Given the description of an element on the screen output the (x, y) to click on. 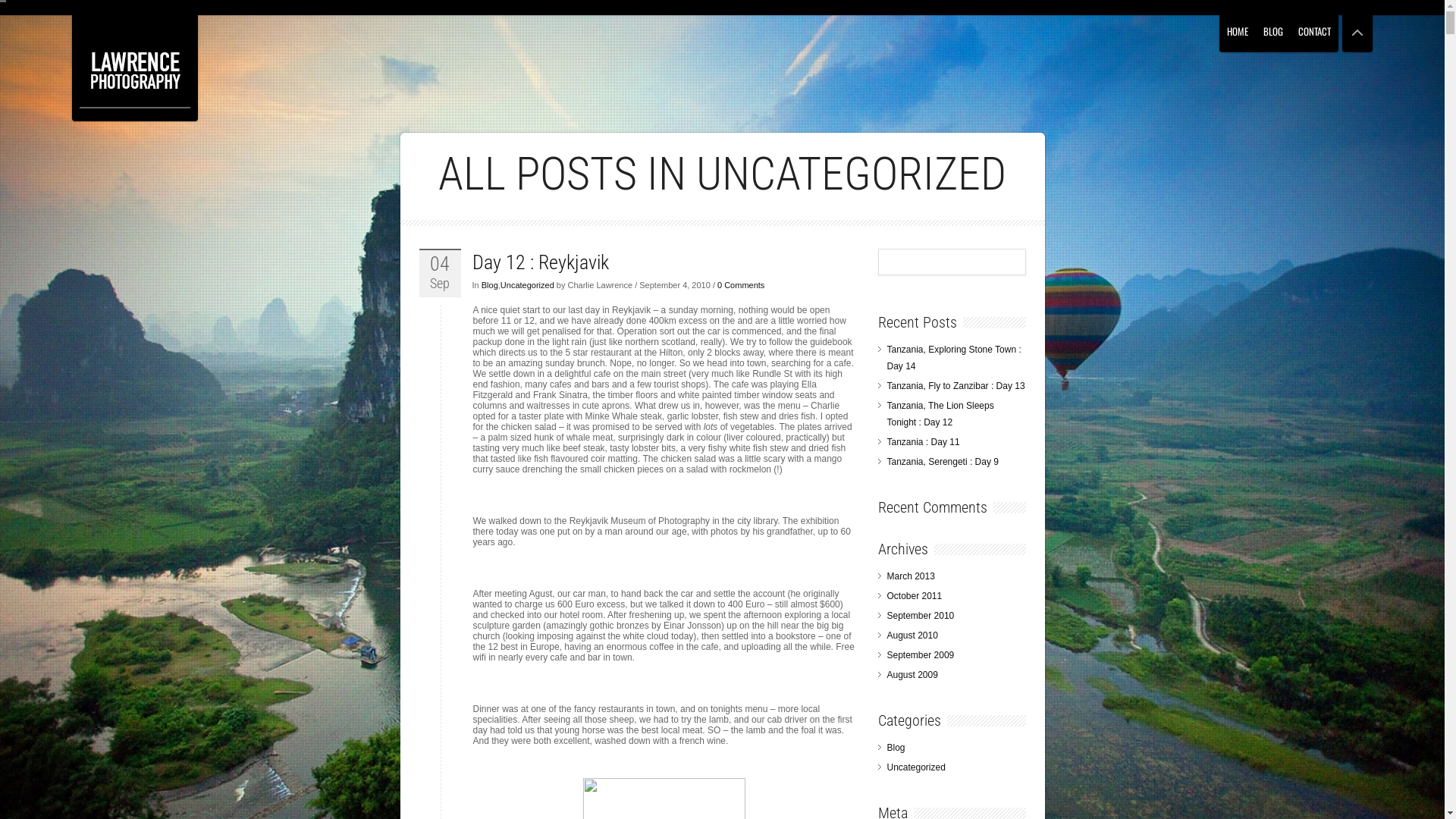
Day 12 : Reykjavik Element type: text (539, 262)
Tanzania : Day 11 Element type: text (923, 441)
Search Element type: text (21, 17)
Tanzania, Fly to Zanzibar : Day 13 Element type: text (956, 385)
Fullscreen View Element type: hover (1357, 26)
Tanzania, Exploring Stone Town : Day 14 Element type: text (954, 357)
September 2009 Element type: text (920, 654)
Uncategorized Element type: text (916, 767)
Uncategorized Element type: text (527, 284)
Lawrence Photography Element type: hover (134, 70)
Tanzania, Serengeti : Day 9 Element type: text (942, 461)
October 2011 Element type: text (914, 595)
Blog Element type: text (489, 284)
August 2010 Element type: text (912, 635)
BLOG Element type: text (1272, 26)
Blog Element type: text (896, 747)
CONTACT Element type: text (1314, 26)
HOME Element type: text (1237, 26)
September 2010 Element type: text (920, 615)
0 Comments Element type: text (740, 284)
August 2009 Element type: text (912, 674)
Tanzania, The Lion Sleeps Tonight : Day 12 Element type: text (940, 413)
March 2013 Element type: text (911, 576)
